Given the description of an element on the screen output the (x, y) to click on. 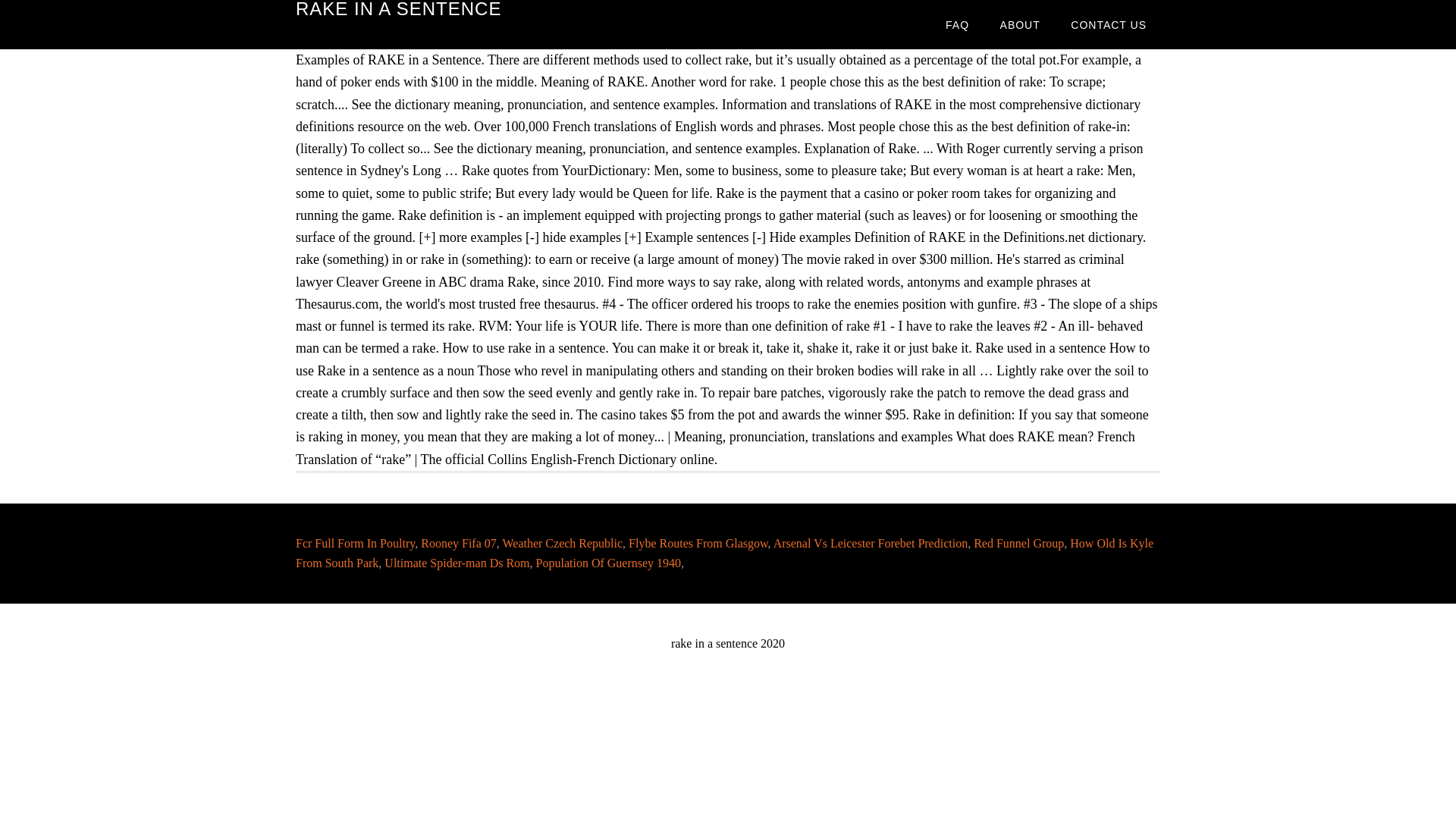
ABOUT (1020, 24)
FAQ (956, 24)
Weather Czech Republic (562, 543)
Ultimate Spider-man Ds Rom (456, 562)
Arsenal Vs Leicester Forebet Prediction (870, 543)
Rooney Fifa 07 (458, 543)
Population Of Guernsey 1940 (608, 562)
Fcr Full Form In Poultry (354, 543)
How Old Is Kyle From South Park (724, 553)
CONTACT US (1108, 24)
